Given the description of an element on the screen output the (x, y) to click on. 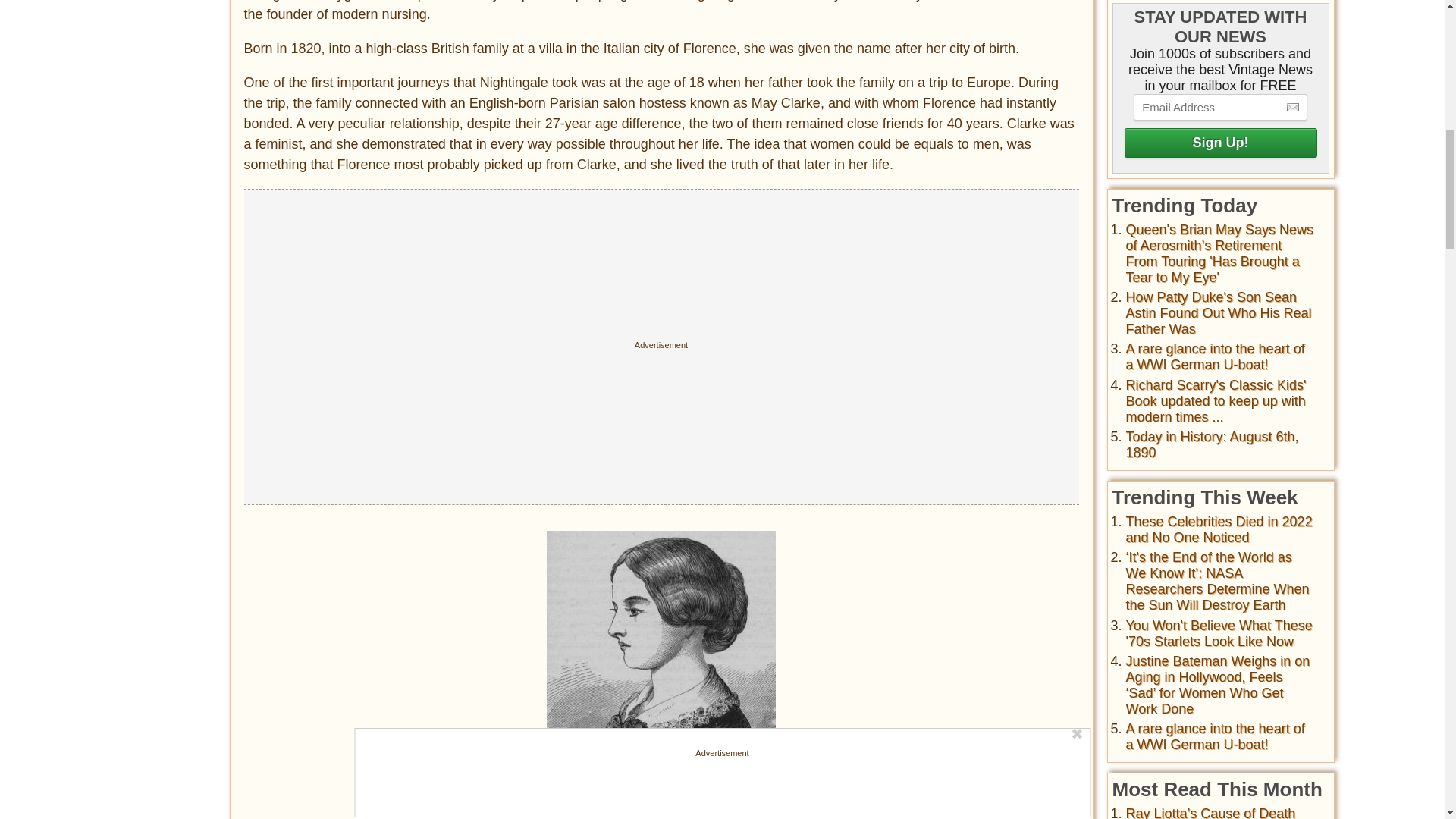
Sign Up! (1220, 142)
